Given the description of an element on the screen output the (x, y) to click on. 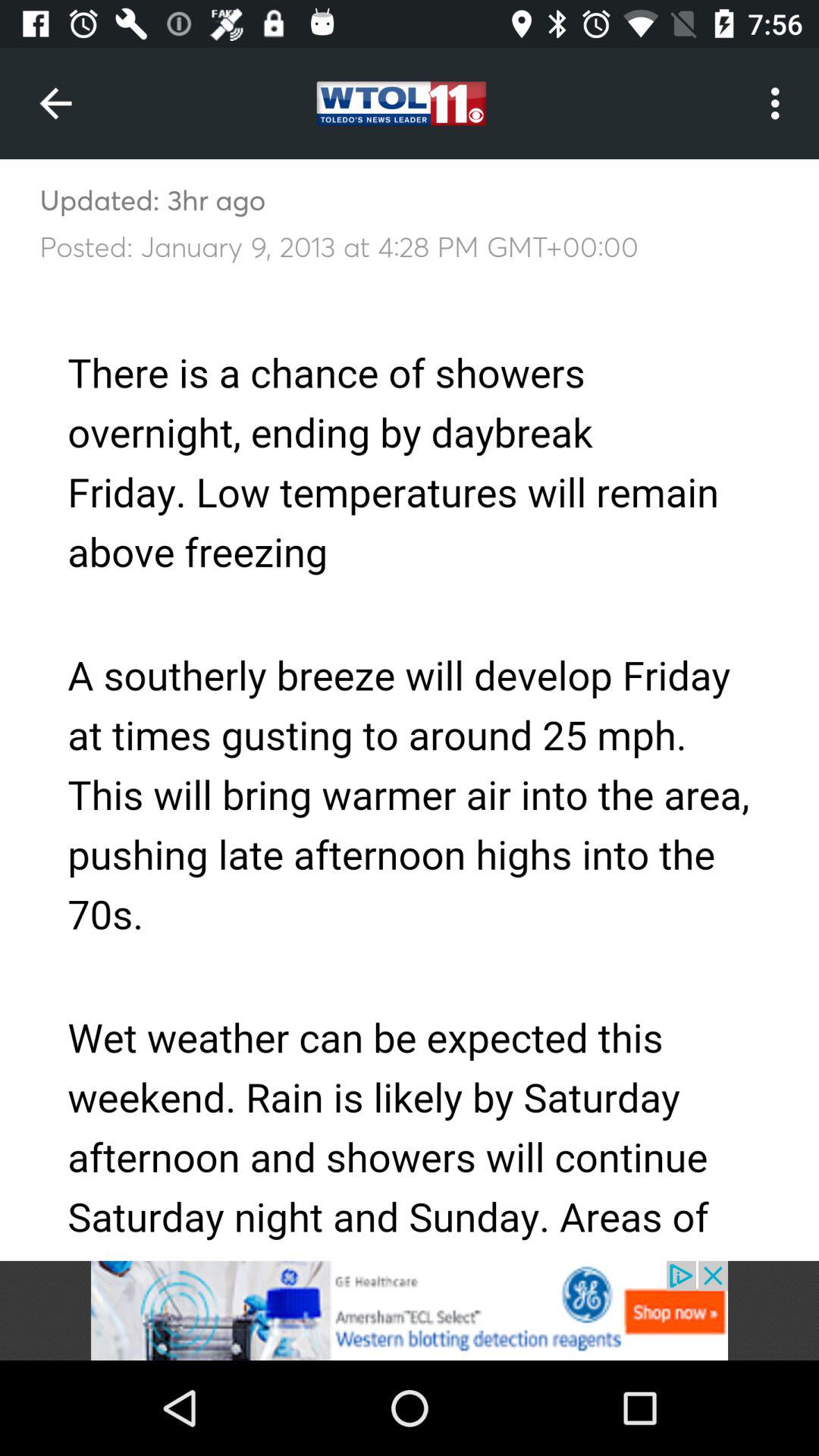
open advertisement (409, 1310)
